Given the description of an element on the screen output the (x, y) to click on. 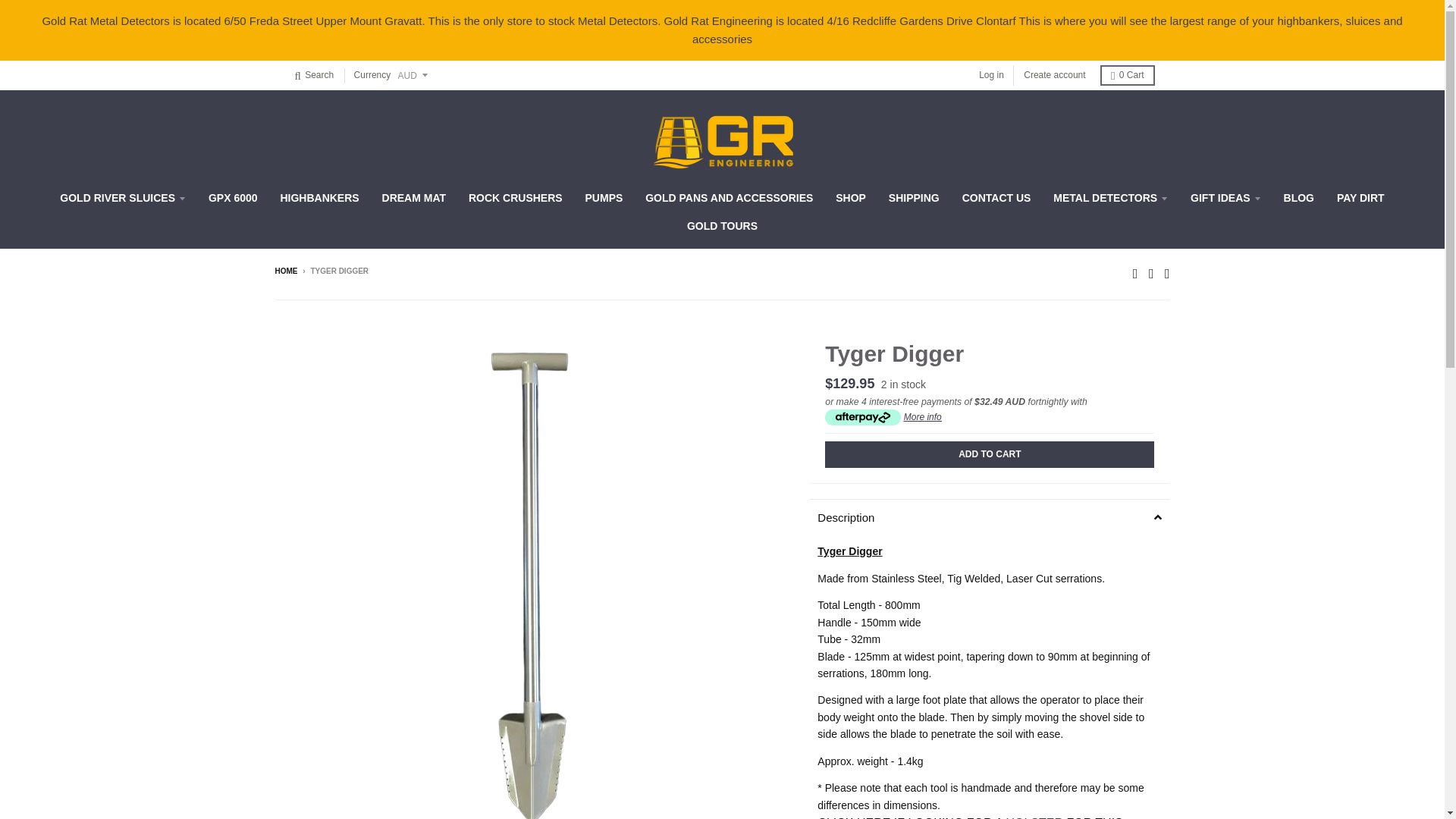
SHOP (850, 197)
GIFT IDEAS (1225, 197)
GPX 6000 (232, 197)
GOLD TOURS (722, 225)
PUMPS (604, 197)
HIGHBANKERS (318, 197)
SHIPPING (914, 197)
GOLD PANS AND ACCESSORIES (728, 197)
DREAM MAT (414, 197)
PAY DIRT (1360, 197)
